Given the description of an element on the screen output the (x, y) to click on. 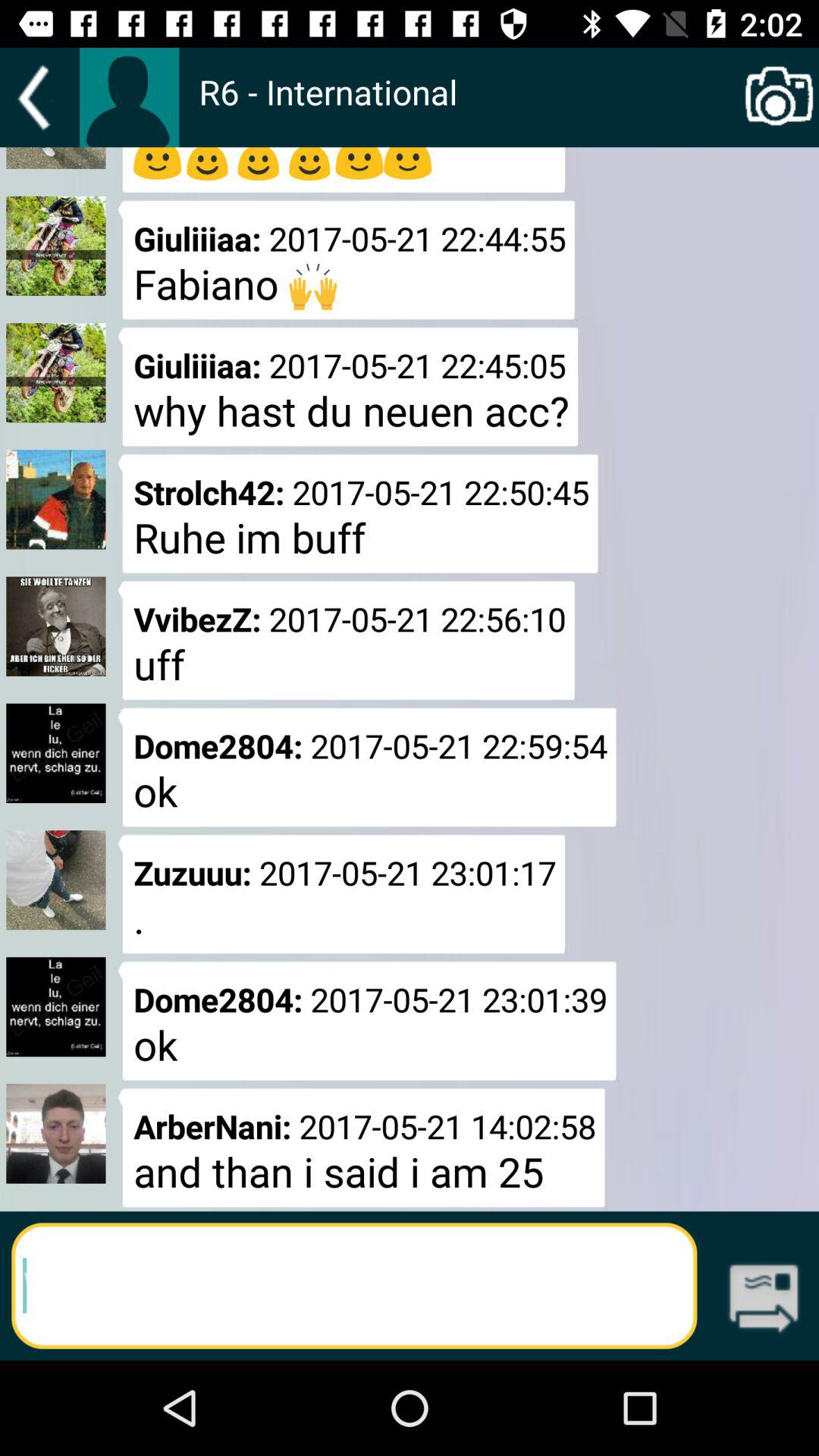
scroll to the strolch42 2017 05 (358, 513)
